Given the description of an element on the screen output the (x, y) to click on. 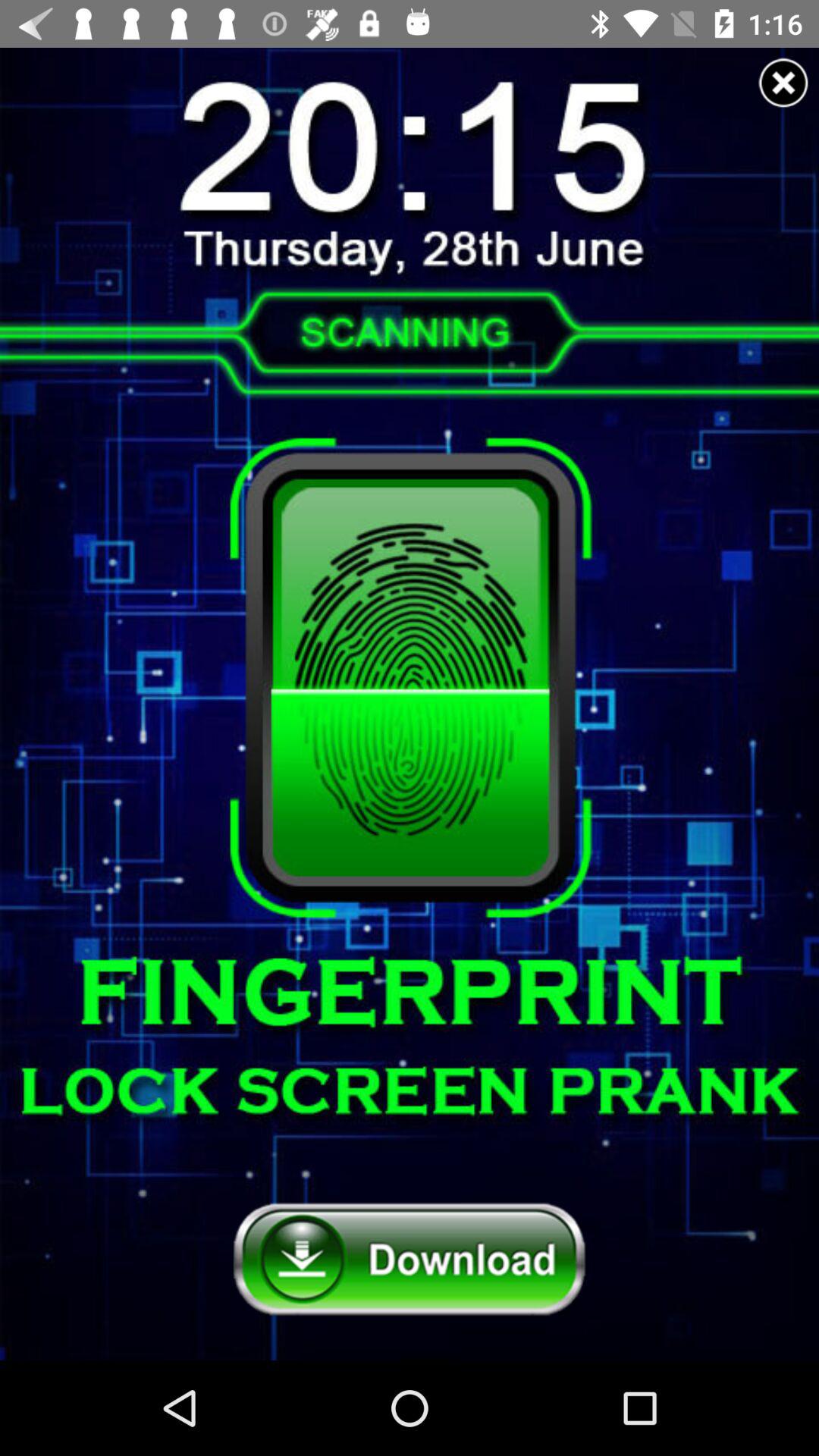
close advertisement (783, 83)
